Given the description of an element on the screen output the (x, y) to click on. 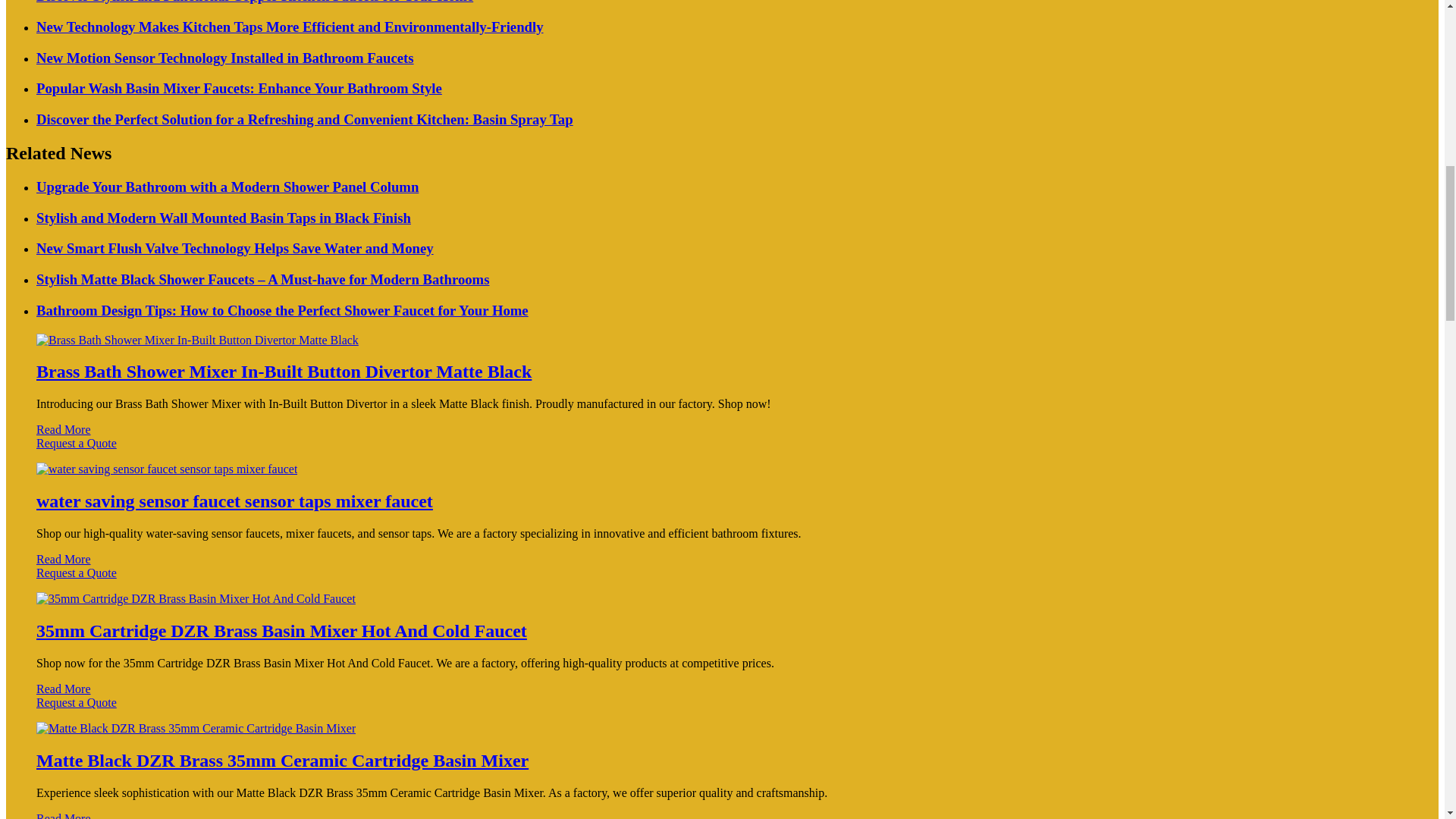
Request a Quote (721, 450)
Brass Bath Shower Mixer In-Built Button Divertor Matte Black (283, 371)
Read More (63, 429)
